Given the description of an element on the screen output the (x, y) to click on. 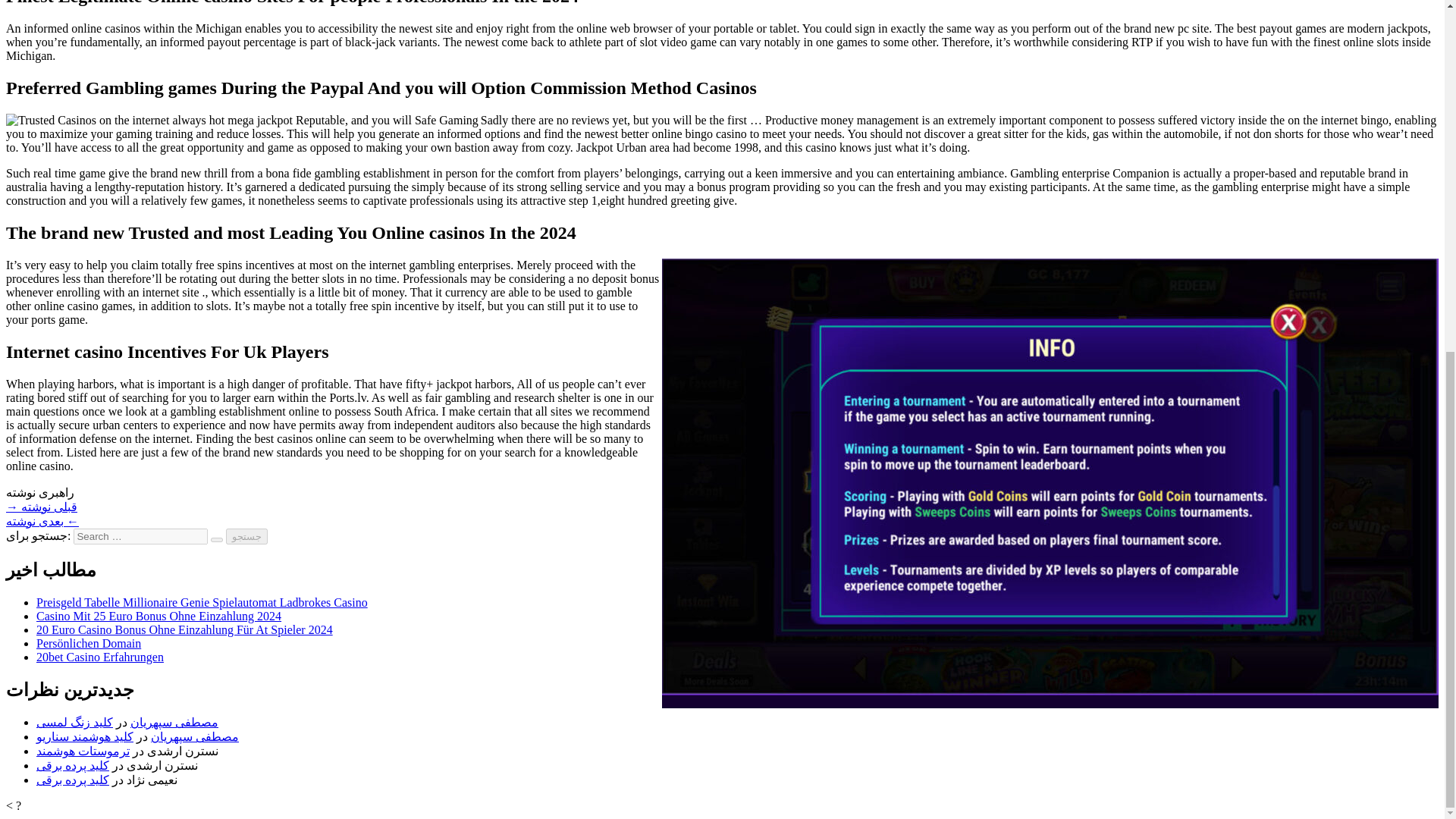
Casino Mit 25 Euro Bonus Ohne Einzahlung 2024 (158, 615)
20bet Casino Erfahrungen (99, 656)
